Given the description of an element on the screen output the (x, y) to click on. 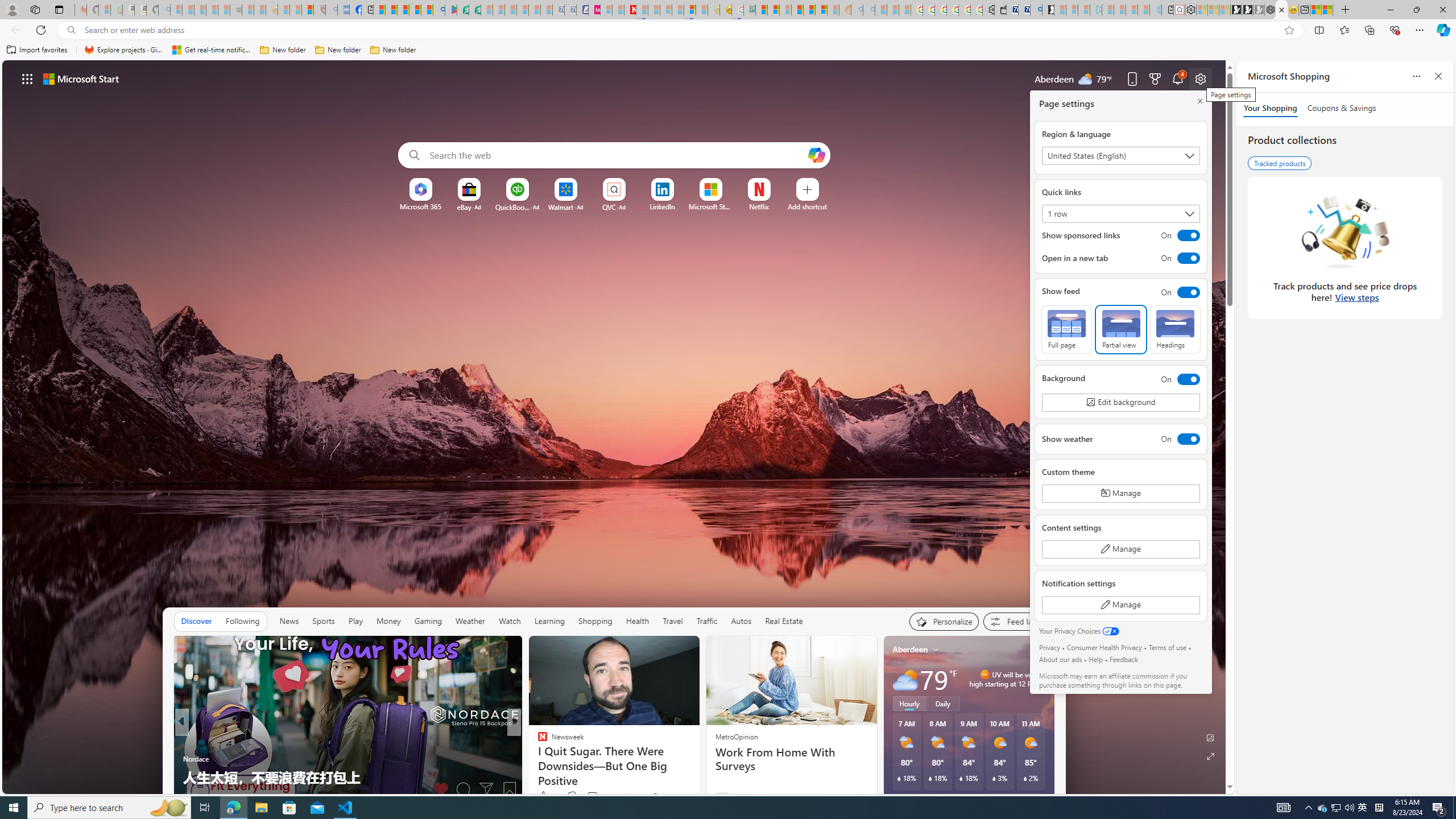
Netflix (758, 206)
Gaming (428, 621)
Show sponsored links On (1120, 235)
SlashGear (537, 758)
How To Disable OneDrive On Windows (697, 777)
Mostly cloudy (904, 678)
